Given the description of an element on the screen output the (x, y) to click on. 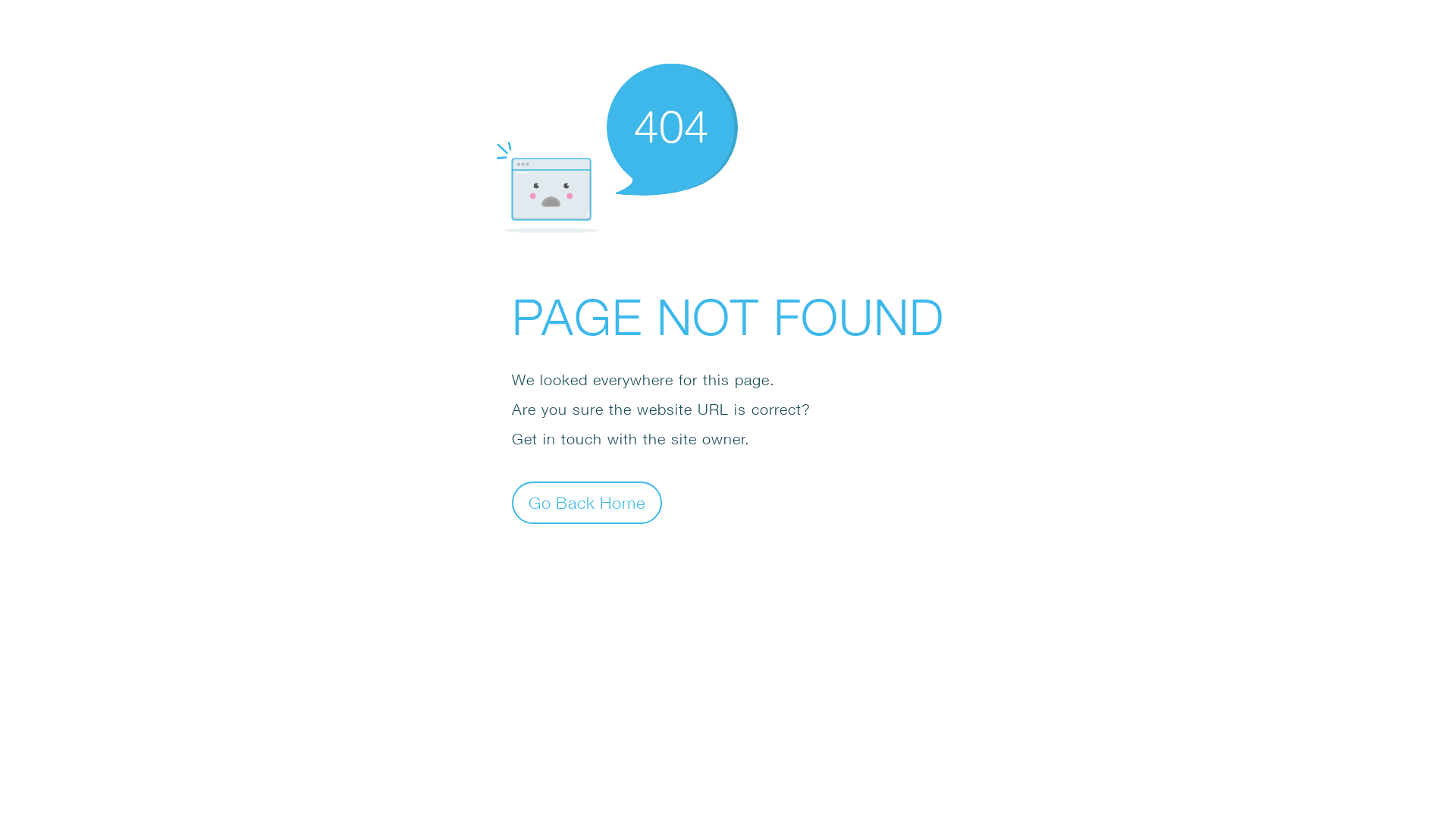
Go Back Home Element type: text (586, 502)
